Given the description of an element on the screen output the (x, y) to click on. 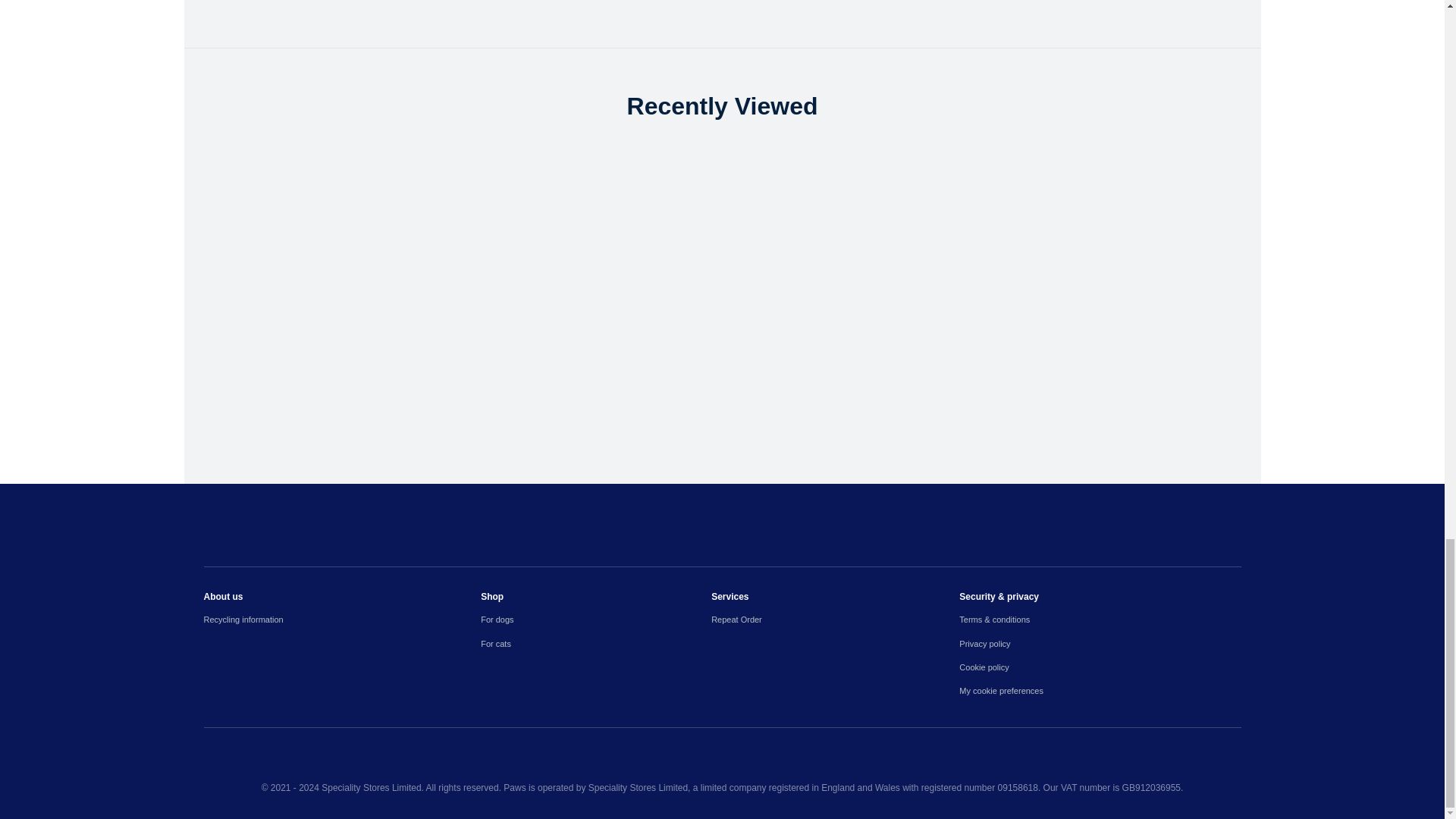
Recycling information (341, 619)
Cookie policy (1099, 667)
Repeat Order (835, 619)
For cats (595, 644)
My cookie preferences (1099, 690)
For dogs (595, 619)
Privacy policy (1099, 644)
